Given the description of an element on the screen output the (x, y) to click on. 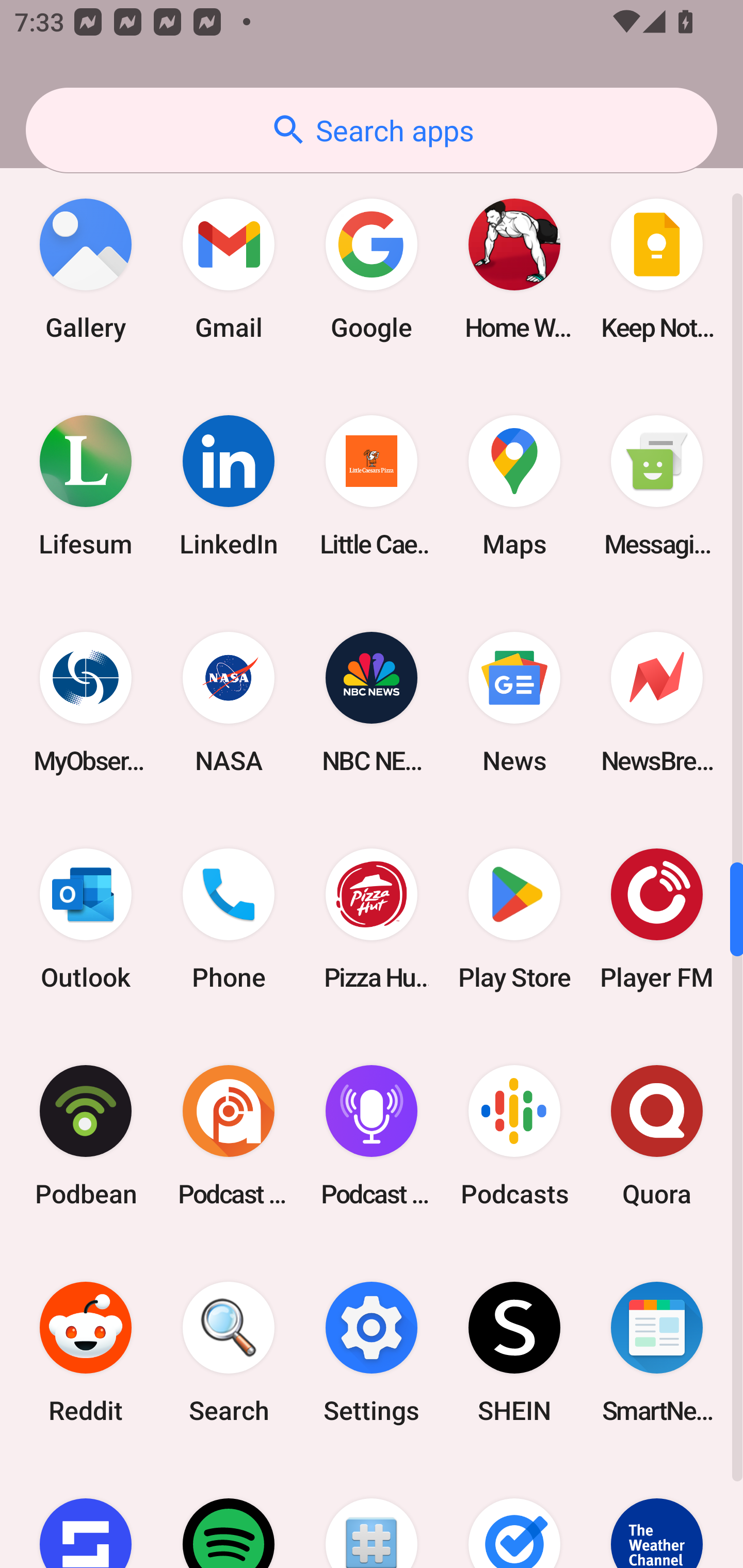
  Search apps (371, 130)
Gallery (85, 269)
Gmail (228, 269)
Google (371, 269)
Home Workout (514, 269)
Keep Notes (656, 269)
Lifesum (85, 485)
LinkedIn (228, 485)
Little Caesars Pizza (371, 485)
Maps (514, 485)
Messaging (656, 485)
MyObservatory (85, 702)
NASA (228, 702)
NBC NEWS (371, 702)
News (514, 702)
NewsBreak (656, 702)
Outlook (85, 918)
Phone (228, 918)
Pizza Hut HK & Macau (371, 918)
Play Store (514, 918)
Player FM (656, 918)
Podbean (85, 1135)
Podcast Addict (228, 1135)
Podcast Player (371, 1135)
Podcasts (514, 1135)
Quora (656, 1135)
Reddit (85, 1352)
Search (228, 1352)
Settings (371, 1352)
SHEIN (514, 1352)
SmartNews (656, 1352)
Sofascore (85, 1514)
Spotify (228, 1514)
Superuser (371, 1514)
Tasks (514, 1514)
The Weather Channel (656, 1514)
